Given the description of an element on the screen output the (x, y) to click on. 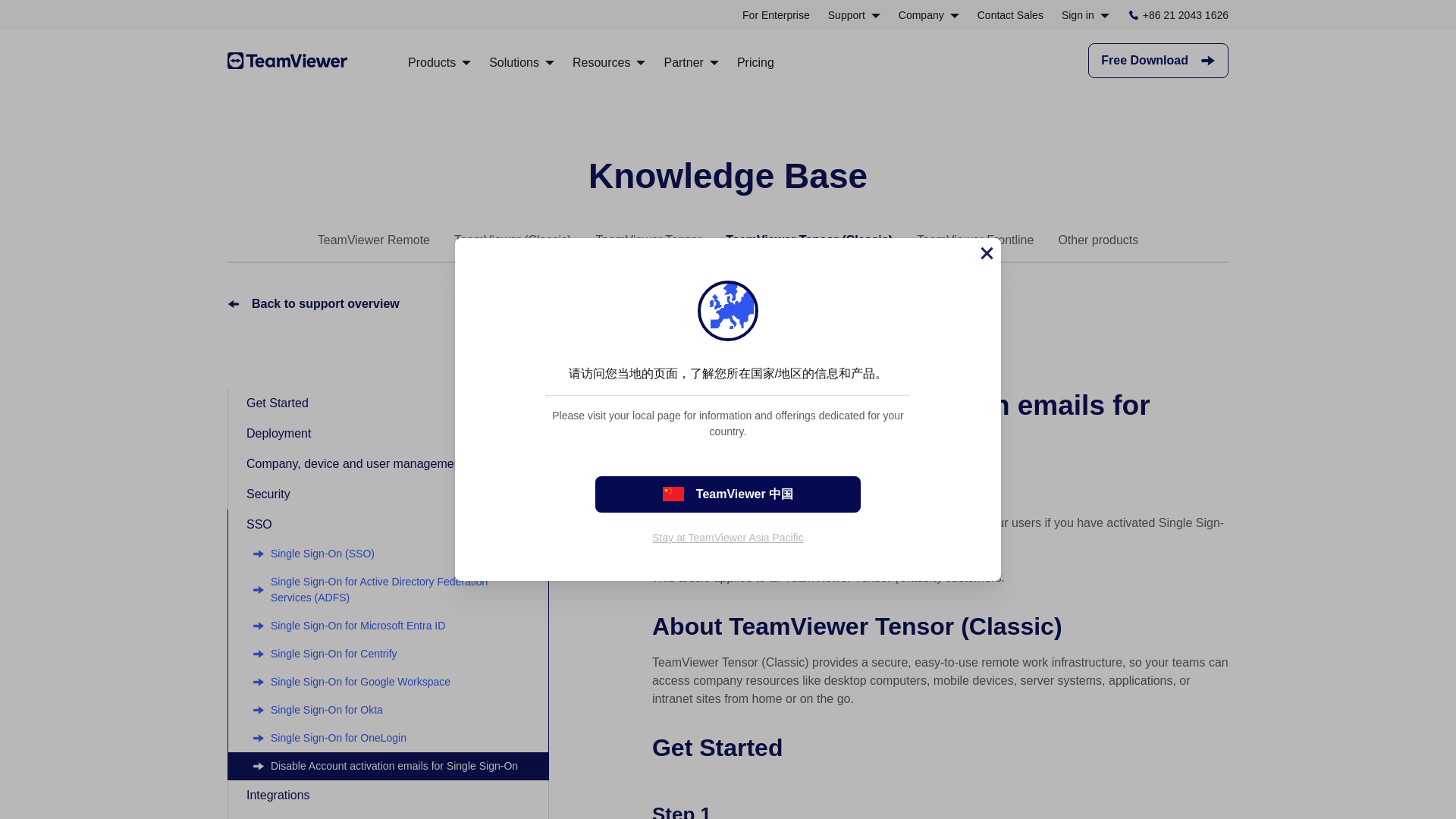
Company (928, 15)
Sign in (1085, 15)
Support (854, 15)
Stay at TeamViewer Asia Pacific (727, 537)
Products (438, 62)
Contact Sales (1009, 15)
For Enterprise (775, 15)
